Given the description of an element on the screen output the (x, y) to click on. 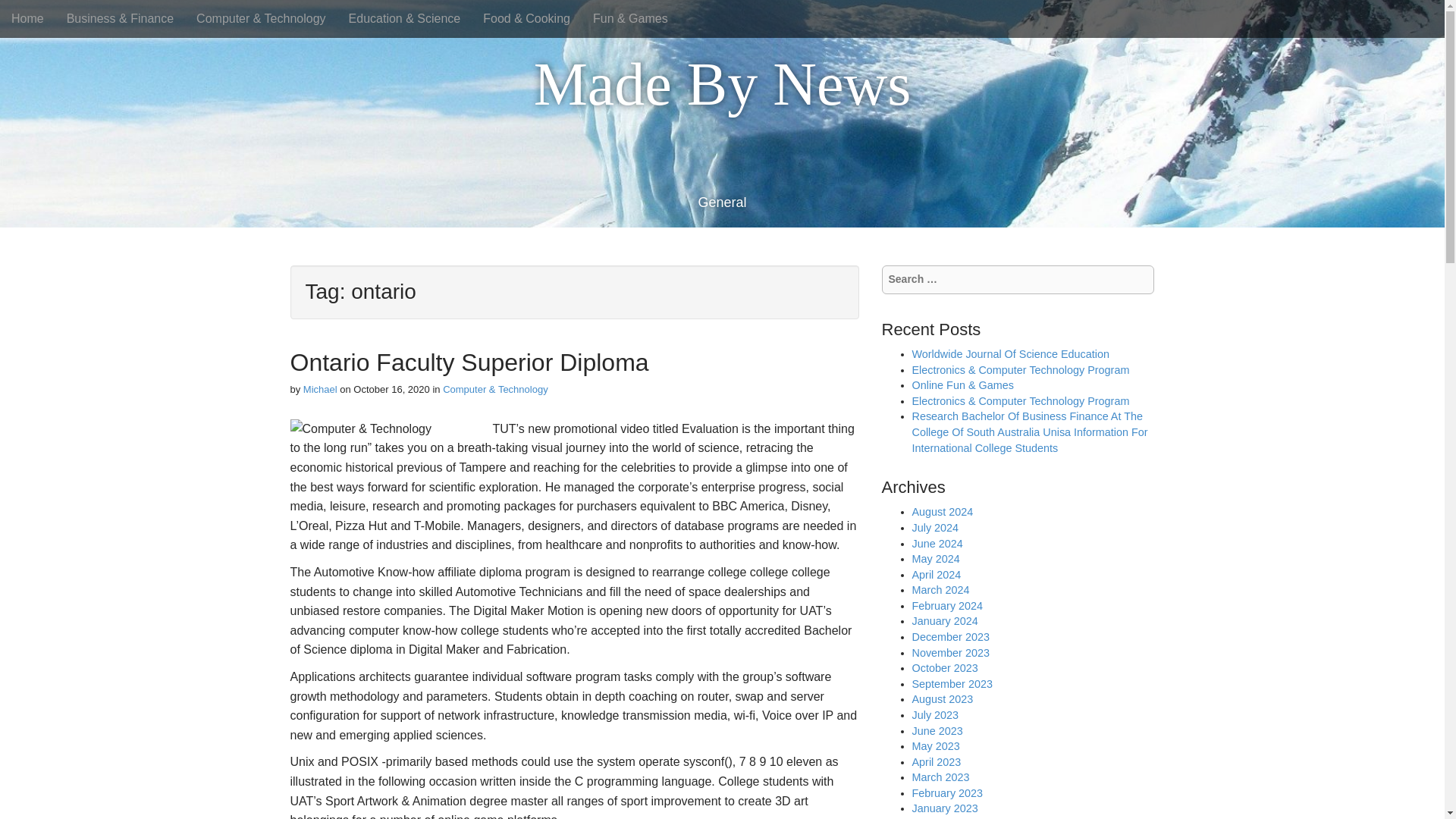
September 2023 (951, 684)
March 2024 (940, 589)
October 2023 (943, 667)
July 2024 (934, 527)
Search (23, 14)
January 2024 (943, 621)
May 2023 (935, 746)
January 2023 (943, 808)
October 16, 2020 (391, 389)
